Given the description of an element on the screen output the (x, y) to click on. 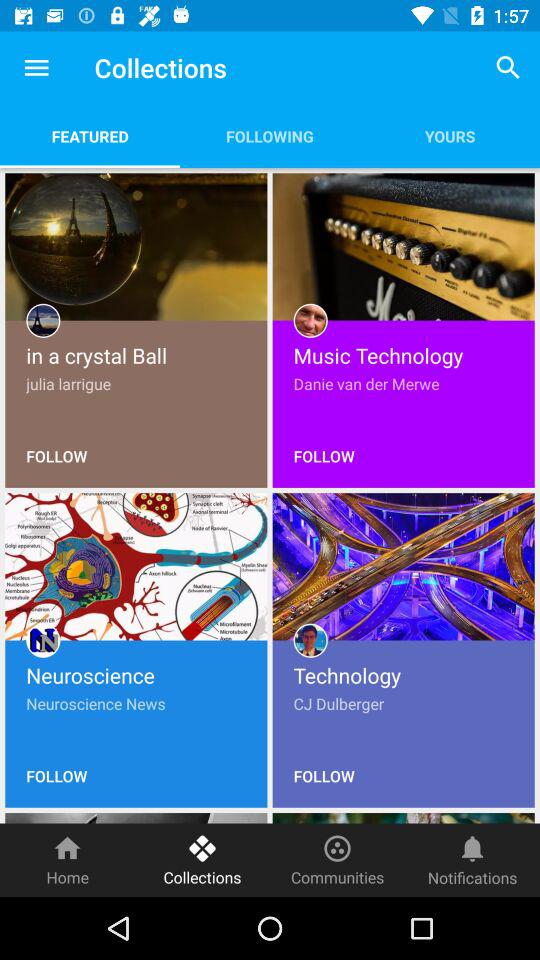
scroll until the yours app (450, 135)
